Given the description of an element on the screen output the (x, y) to click on. 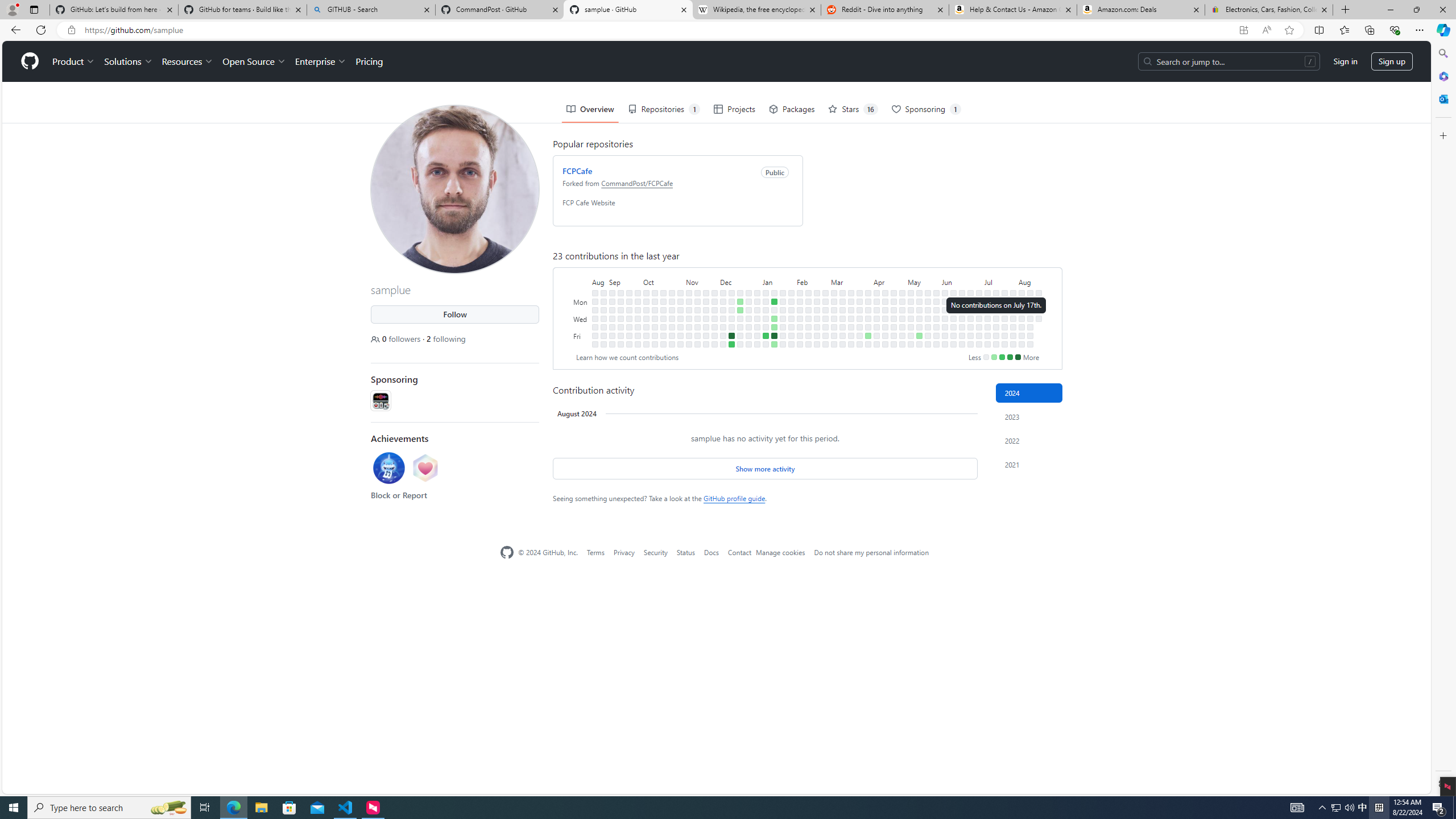
July (1000, 280)
May (923, 280)
2 contributions on January 12th. (765, 335)
No contributions on April 19th. (885, 335)
No contributions on September 21st. (628, 326)
No contributions on May 4th. (902, 343)
No contributions on November 9th. (688, 326)
Tuesday (581, 309)
No contributions on September 13th. (620, 318)
@samplue (379, 54)
No contributions on May 22nd. (927, 318)
@CommandPost (380, 400)
No contributions on October 13th. (655, 335)
No contributions on July 26th. (1004, 335)
